Given the description of an element on the screen output the (x, y) to click on. 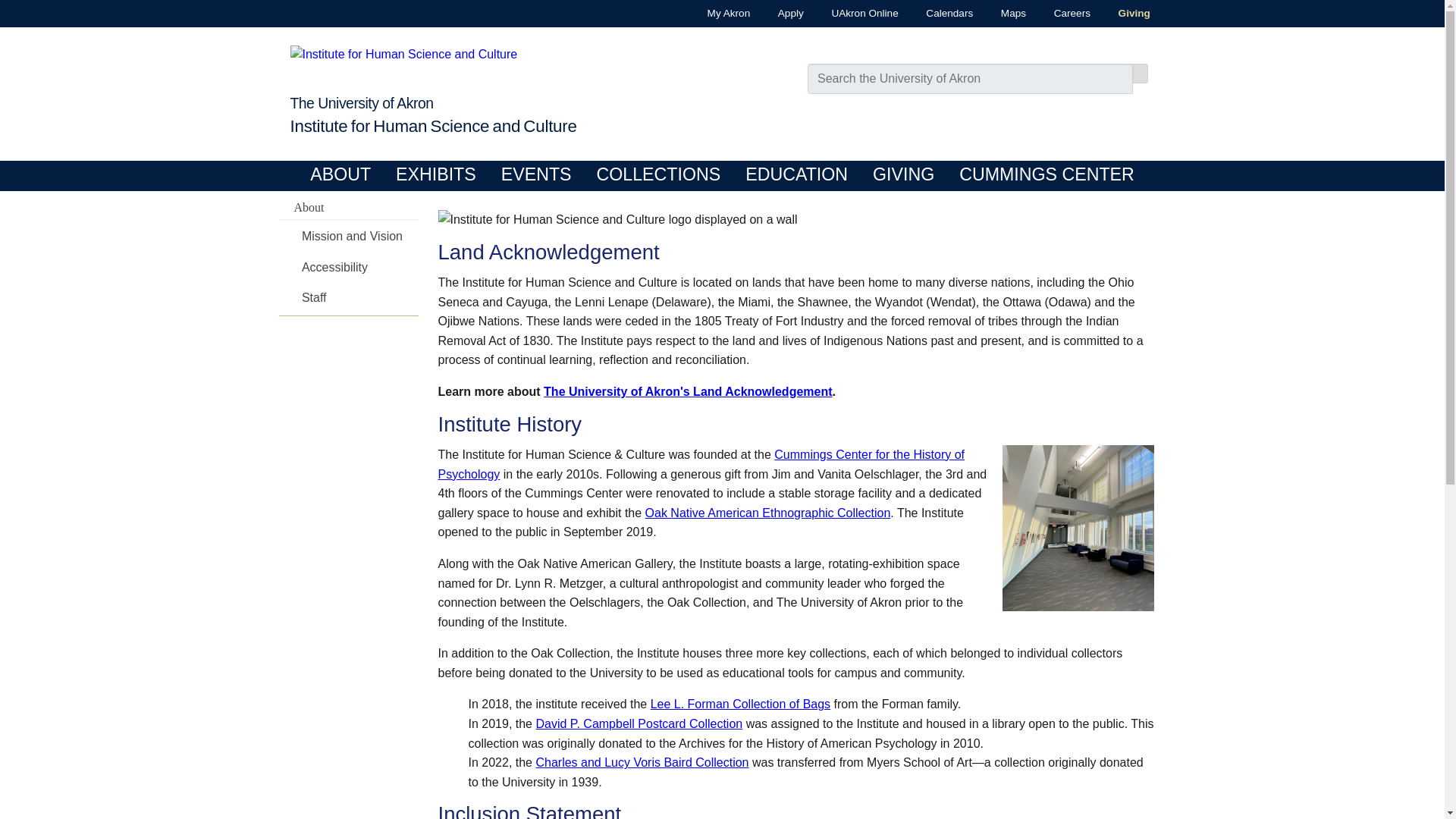
Careers (1058, 13)
EDUCATION (796, 175)
EXHIBITS (435, 175)
Mission and Vision (358, 236)
EVENTS (536, 175)
Maps (999, 13)
COLLECTIONS (658, 175)
About (349, 208)
My Akron (714, 13)
Apply (776, 13)
CUMMINGS CENTER (1046, 175)
Calendars (936, 13)
Staff (358, 297)
Giving (1120, 13)
Accessibility (358, 267)
